Given the description of an element on the screen output the (x, y) to click on. 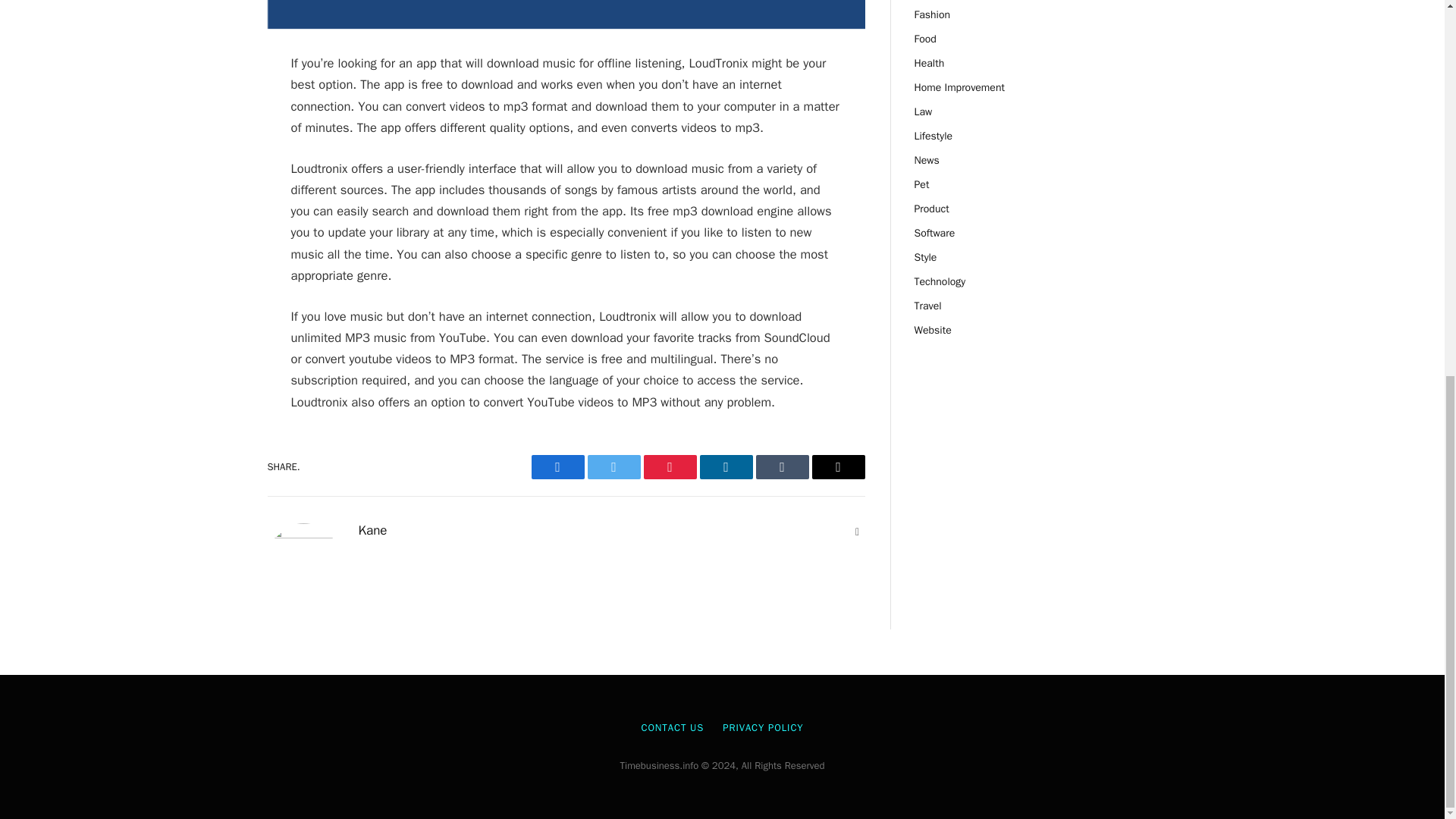
Tumblr (781, 467)
Facebook (557, 467)
Pinterest (669, 467)
Twitter (613, 467)
Email (837, 467)
LinkedIn (725, 467)
